Given the description of an element on the screen output the (x, y) to click on. 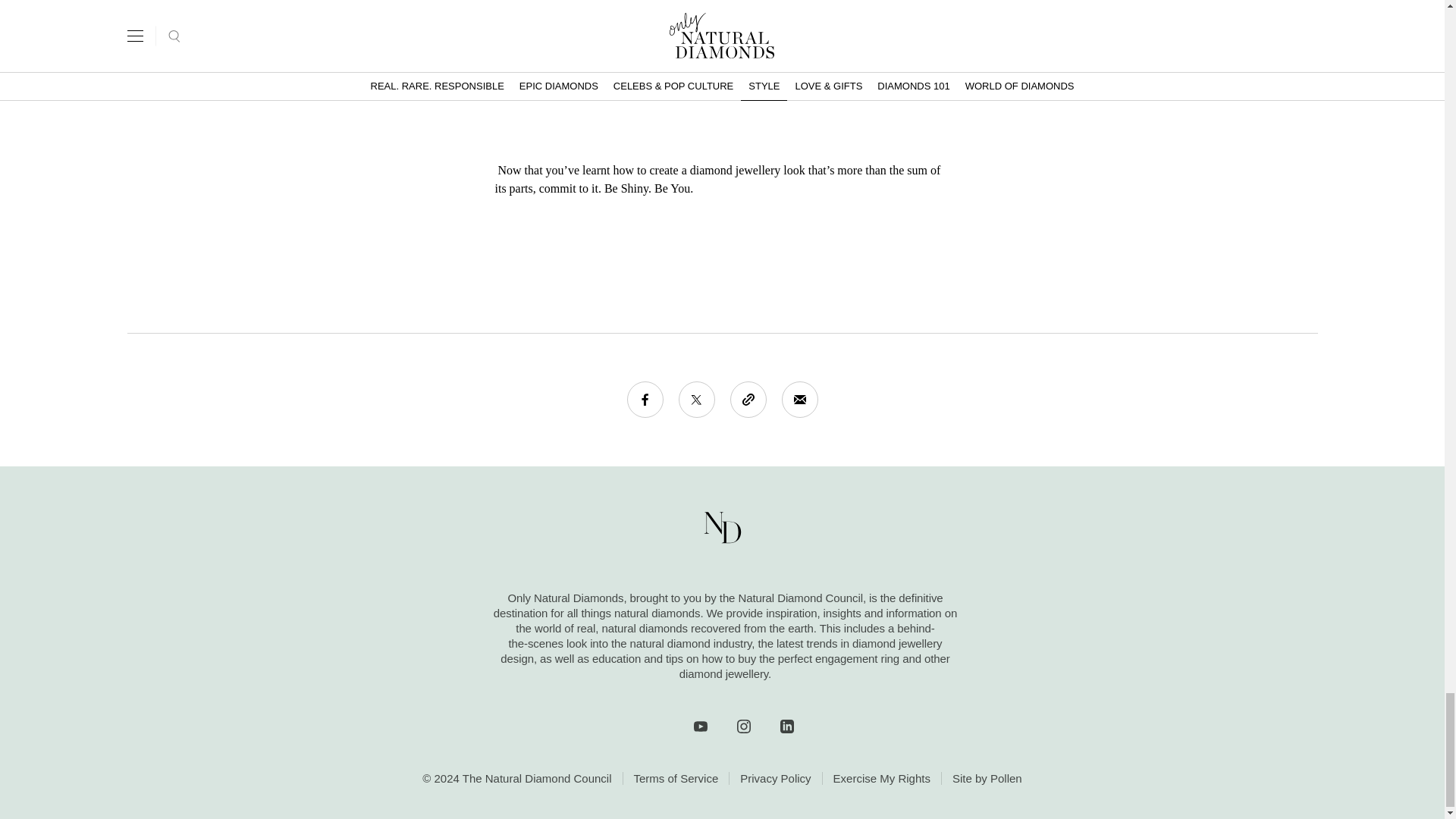
Tweet This (696, 399)
Email this page (798, 399)
Clipboard (747, 399)
Share on Facebook (644, 399)
